Given the description of an element on the screen output the (x, y) to click on. 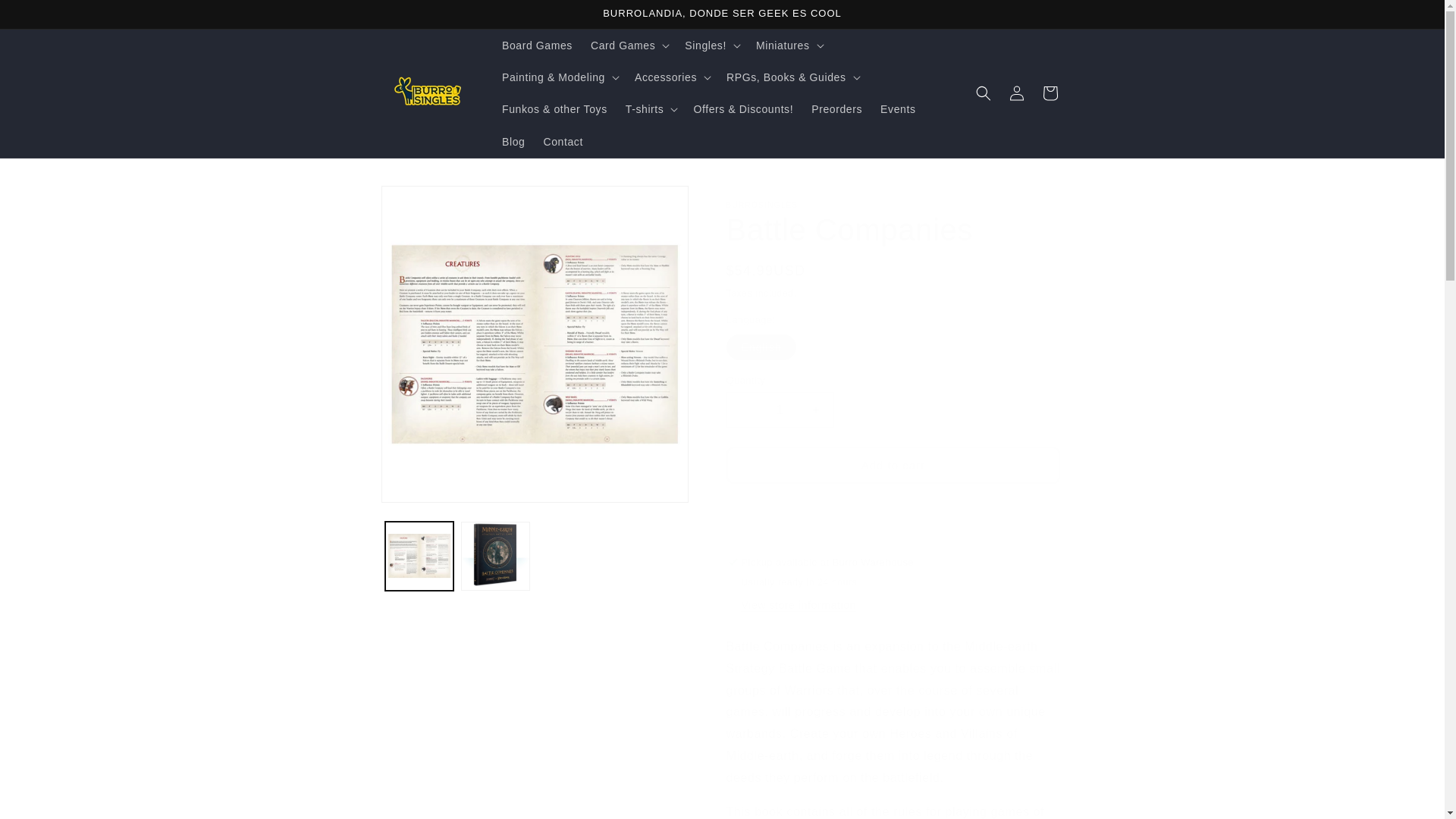
Open media 1 in modal (533, 343)
Skip to content (46, 18)
1 (780, 409)
